Given the description of an element on the screen output the (x, y) to click on. 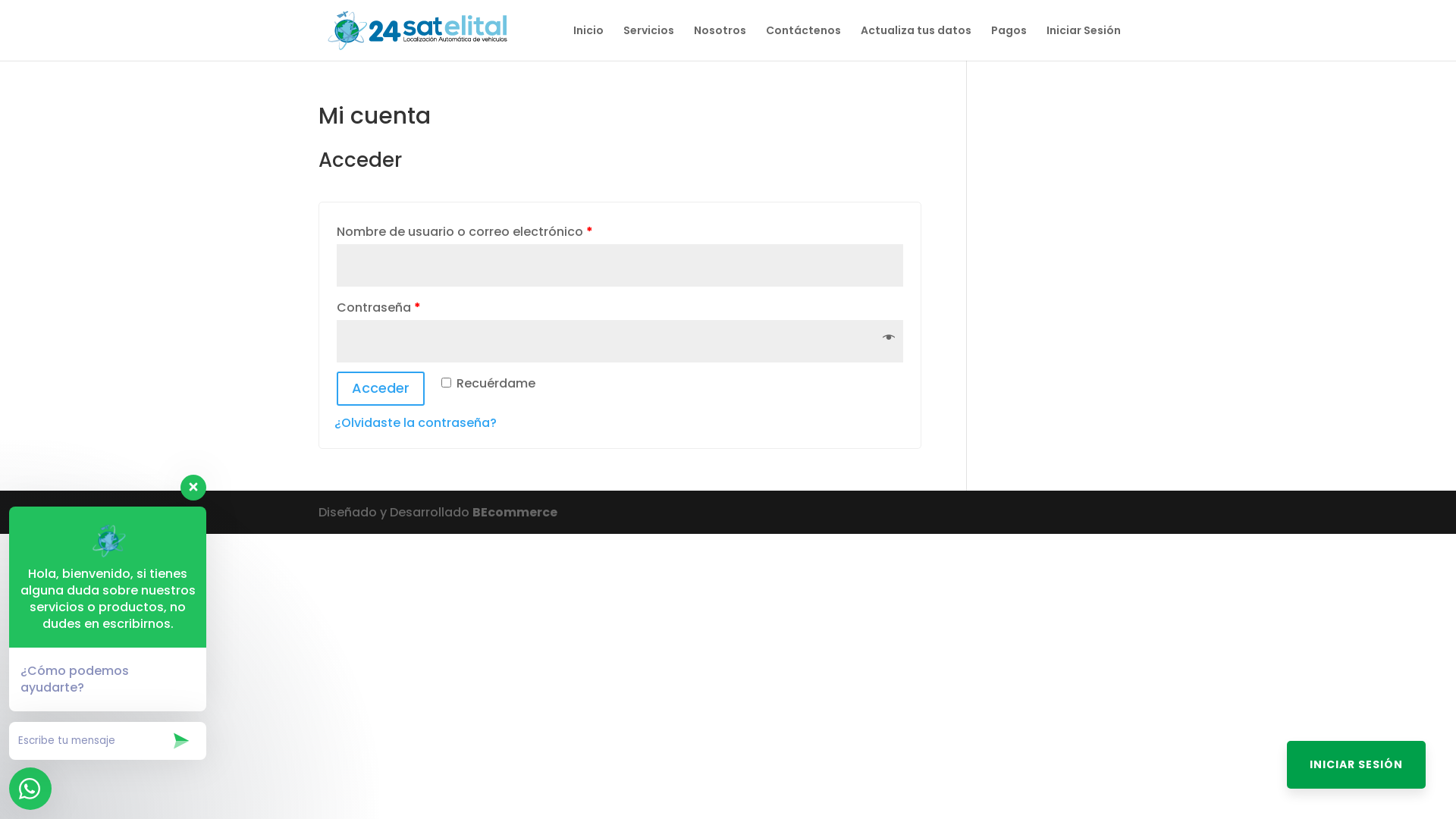
Pagos Element type: text (1008, 42)
Actualiza tus datos Element type: text (915, 42)
Servicios Element type: text (648, 42)
Nosotros Element type: text (719, 42)
Acceder Element type: text (380, 388)
Inicio Element type: text (588, 42)
BEcommerce Element type: text (514, 511)
